Given the description of an element on the screen output the (x, y) to click on. 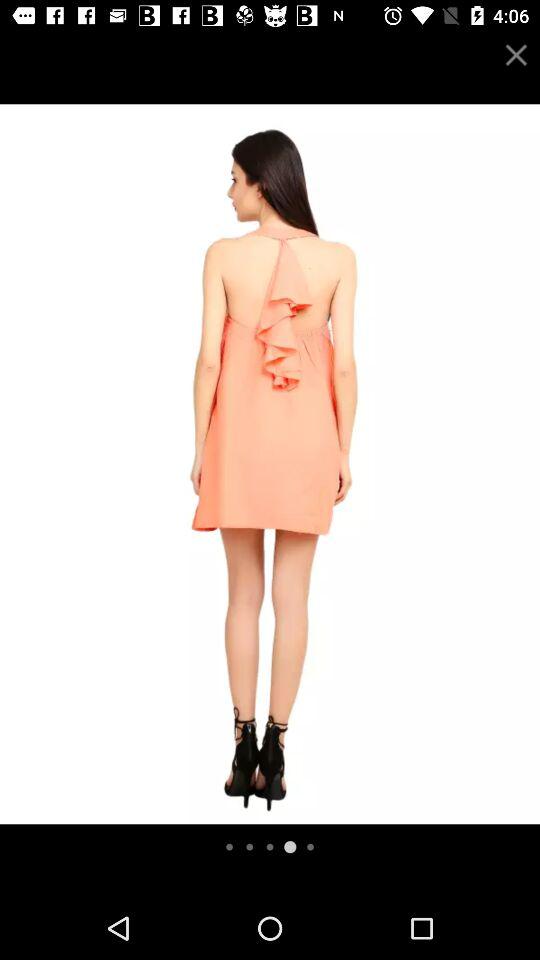
close option (516, 54)
